Given the description of an element on the screen output the (x, y) to click on. 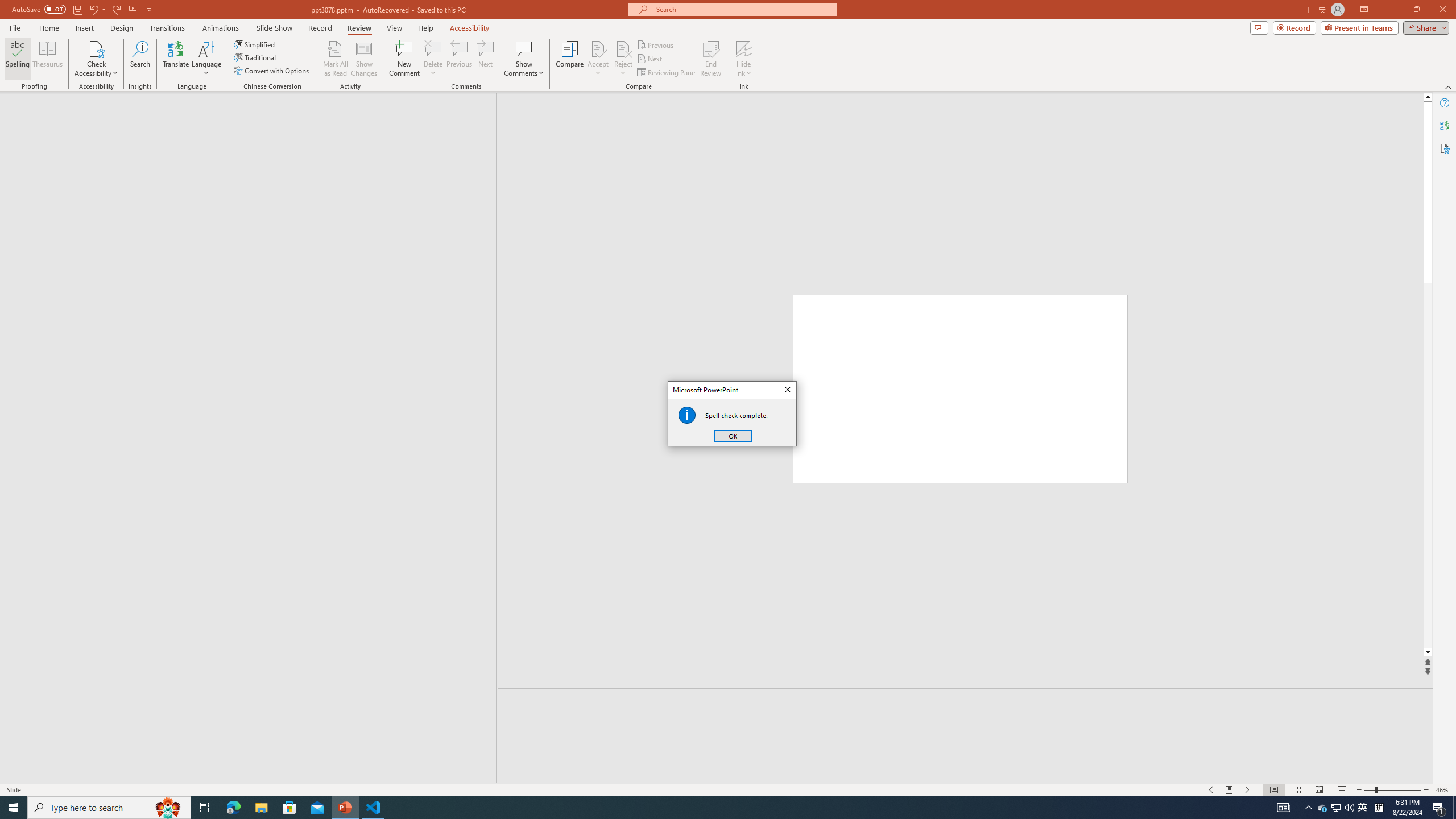
Accessibility (1444, 147)
Rectangle (242, 437)
File Tab (15, 27)
Visual Studio Code - 1 running window (373, 807)
Task View (204, 807)
Present in Teams (1359, 27)
Show Comments (524, 48)
Convert with Options... (272, 69)
Outline (252, 114)
Simplified (254, 44)
AutoSave (38, 9)
Action Center, 1 new notification (1439, 807)
Accept Change (598, 48)
Spelling... (17, 58)
